Given the description of an element on the screen output the (x, y) to click on. 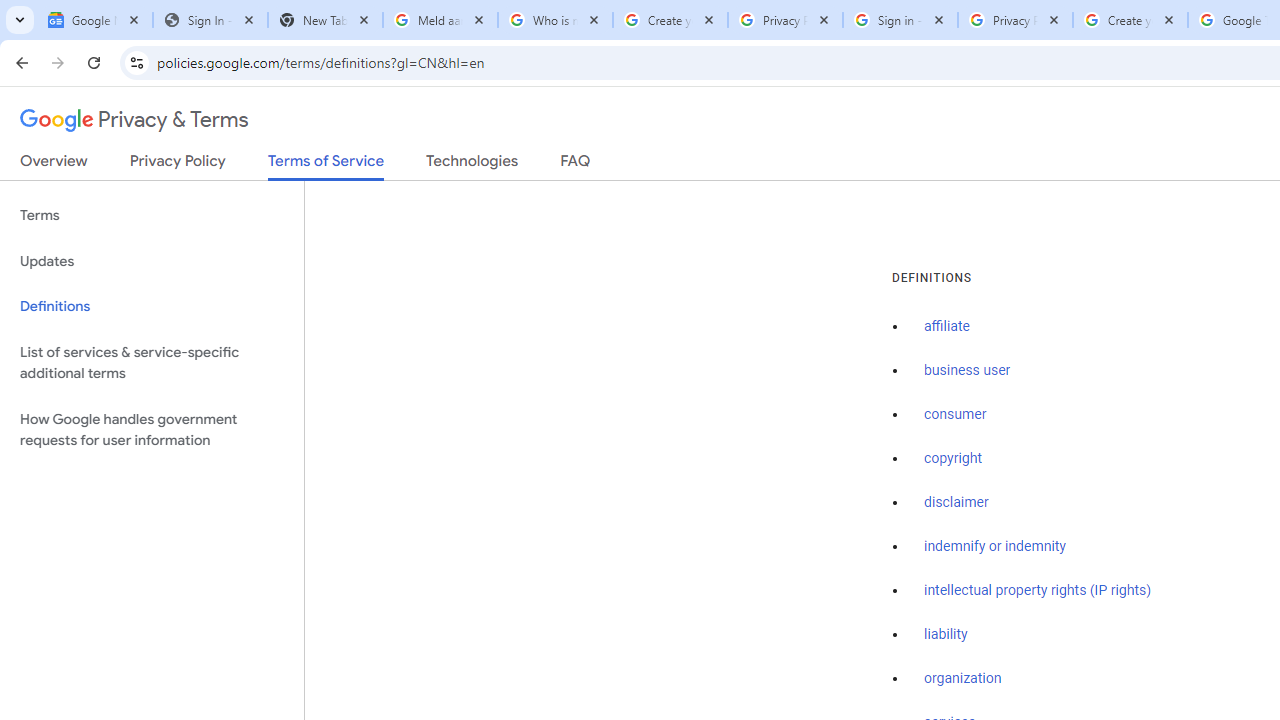
Create your Google Account (1129, 20)
How Google handles government requests for user information (152, 429)
